Given the description of an element on the screen output the (x, y) to click on. 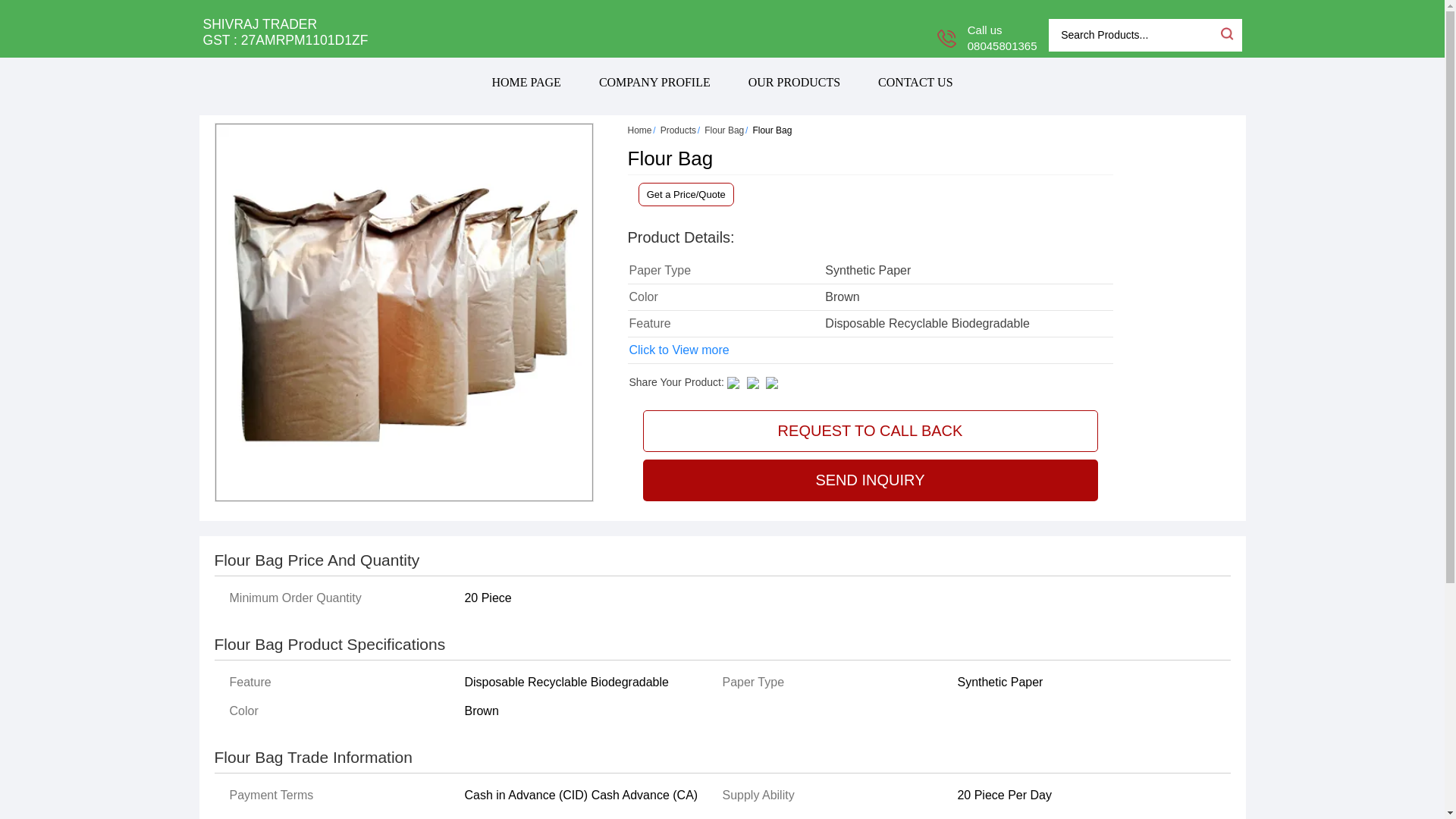
SEND INQUIRY (870, 480)
HOME PAGE (525, 82)
Search Products... (1133, 34)
submit (1225, 33)
COMPANY PROFILE (654, 82)
Products (678, 130)
Flour Bag (724, 130)
Search (1225, 33)
Home (639, 130)
OUR PRODUCTS (794, 82)
CONTACT US (915, 82)
REQUEST TO CALL BACK (870, 431)
Search Products... (1133, 34)
Click to View more (678, 350)
